Given the description of an element on the screen output the (x, y) to click on. 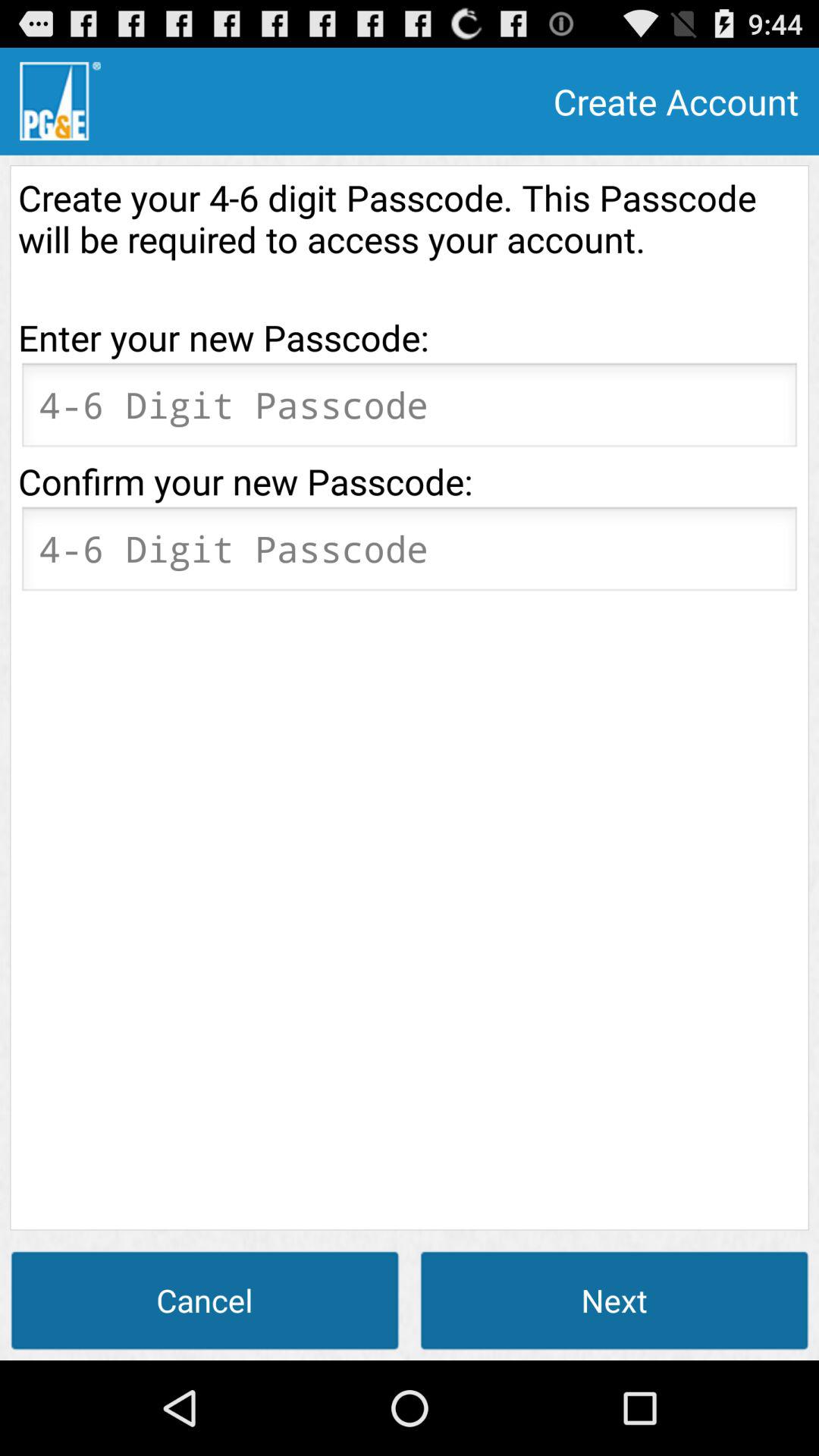
scroll to cancel (204, 1300)
